Given the description of an element on the screen output the (x, y) to click on. 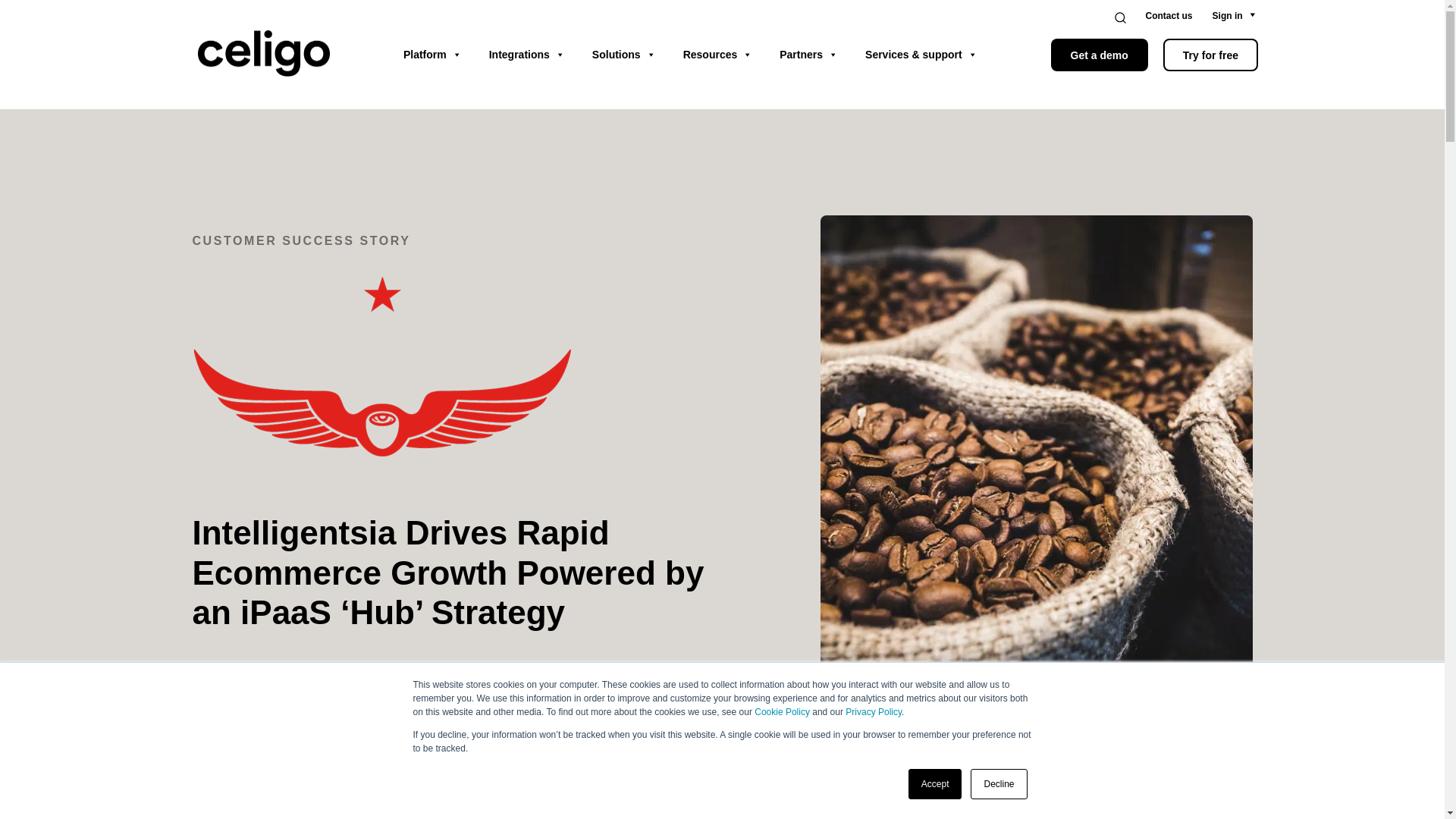
Search (1129, 17)
Cookie Policy (781, 711)
Decline (998, 784)
Integrations (527, 55)
Privacy Policy (873, 711)
Solutions (623, 55)
Accept (935, 784)
Contact us (1168, 15)
Platform (433, 55)
Sign in (1227, 15)
